Given the description of an element on the screen output the (x, y) to click on. 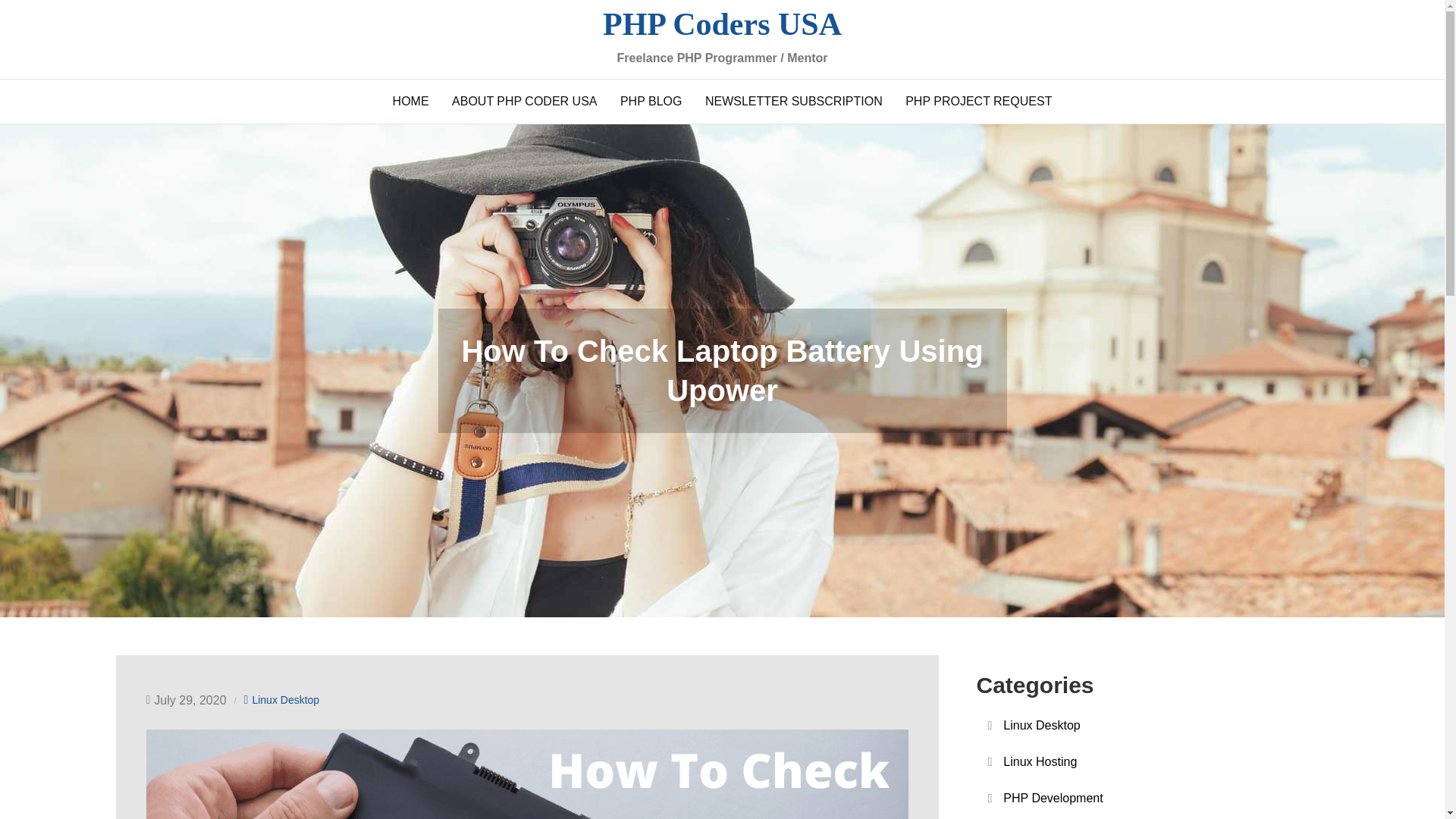
HOME (410, 101)
ABOUT PHP CODER USA (524, 101)
PHP Development (1052, 798)
Linux Desktop (1041, 725)
PHP PROJECT REQUEST (978, 101)
Linux Desktop (284, 699)
PHP Coders USA (721, 23)
PHP BLOG (651, 101)
Linux Hosting (1040, 762)
NEWSLETTER SUBSCRIPTION (793, 101)
